Given the description of an element on the screen output the (x, y) to click on. 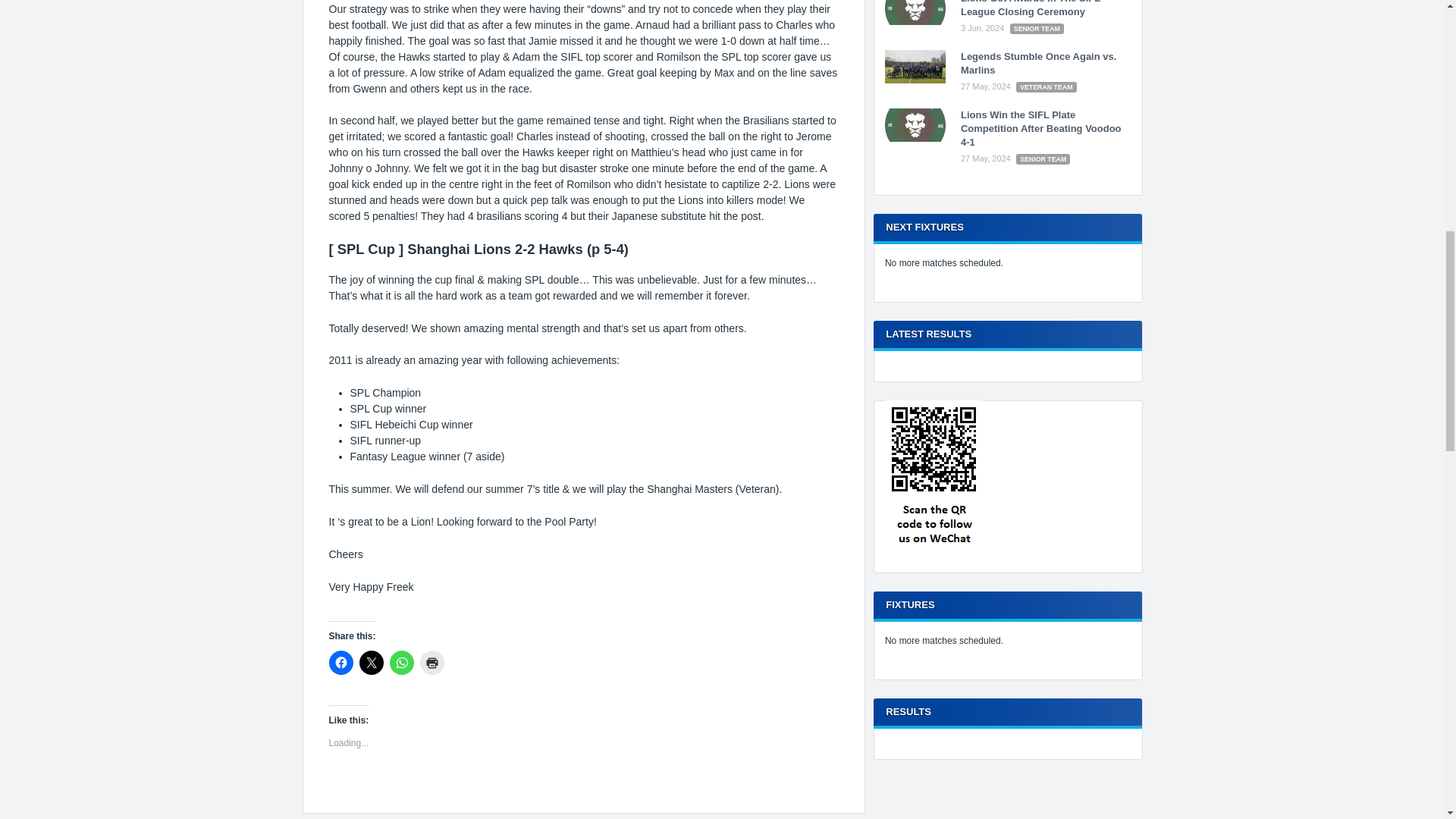
SENIOR TEAM (1037, 28)
Legends Stumble Once Again vs. Marlins (1038, 63)
Lions Got Awards In The SIFL League Closing Ceremony (914, 21)
Lions Got Awards In The SIFL League Closing Ceremony (1030, 8)
Click to share on Facebook (341, 662)
VETERAN TEAM (1046, 86)
Click to print (432, 662)
Legends Stumble Once Again vs. Marlins (1038, 63)
Legends Stumble Once Again vs. Marlins (914, 80)
